Given the description of an element on the screen output the (x, y) to click on. 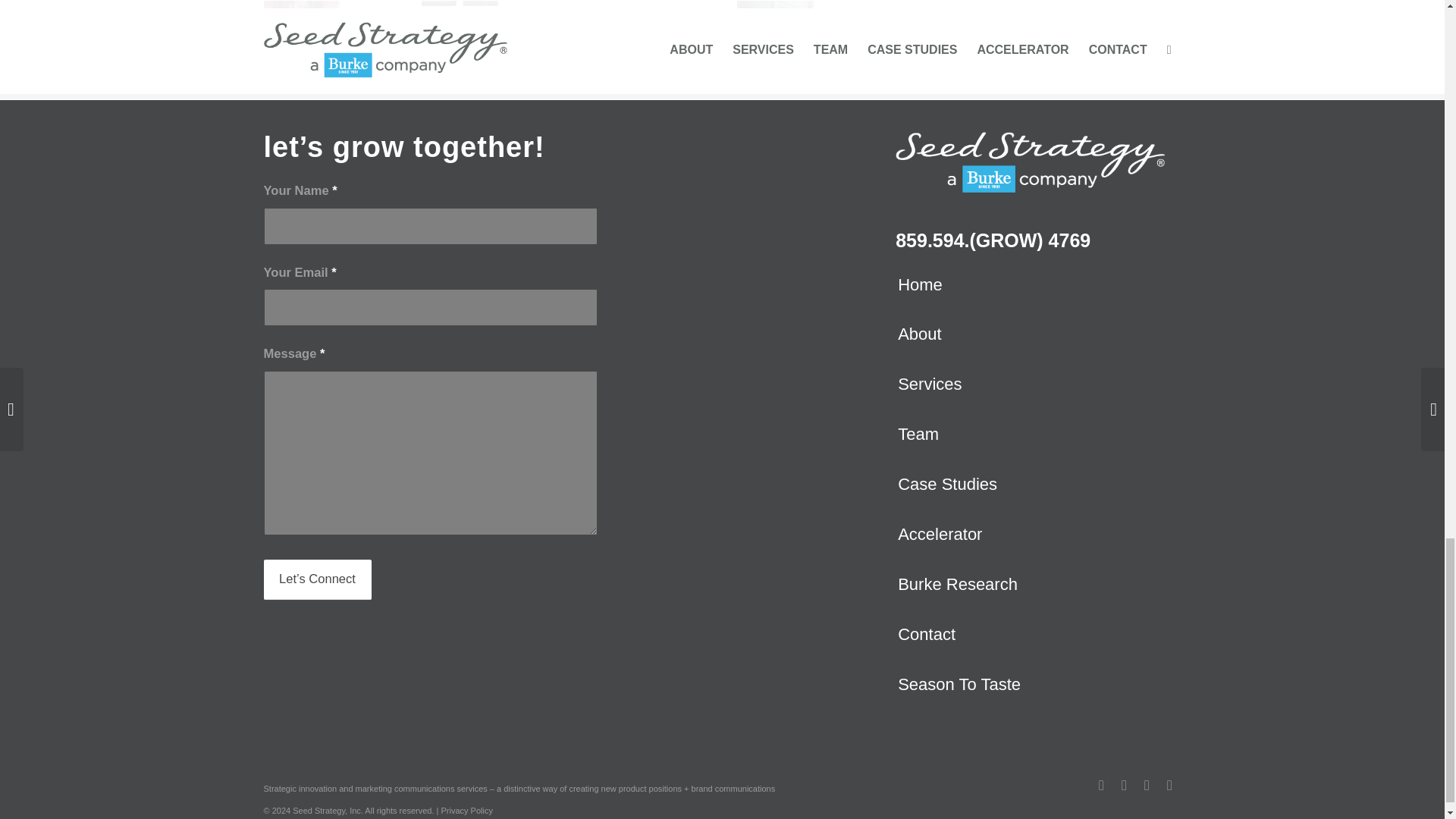
Schleicher Promoted to Creative Director (301, 4)
